Given the description of an element on the screen output the (x, y) to click on. 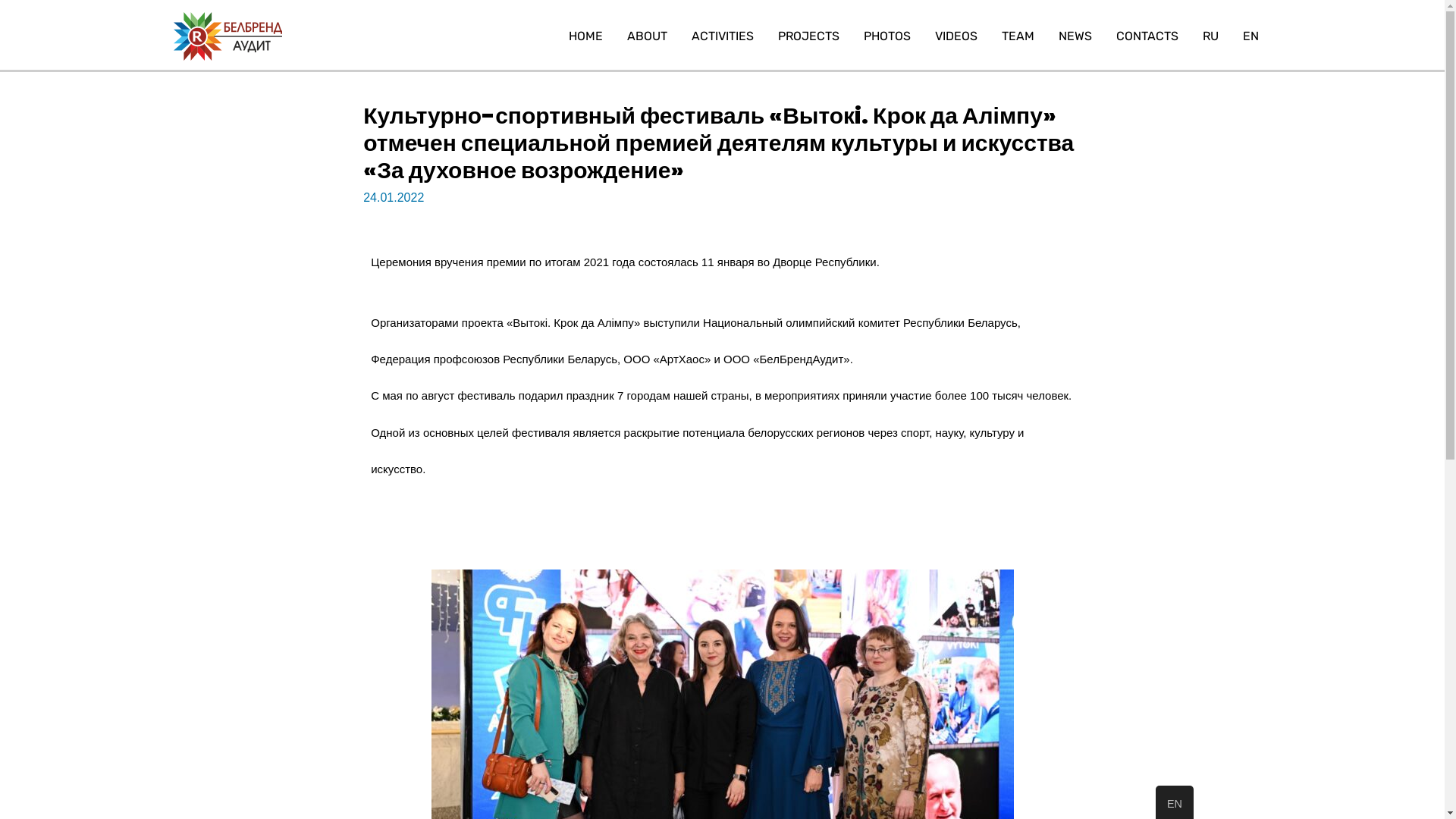
PROJECTS Element type: text (808, 36)
TEAM Element type: text (1017, 36)
VIDEOS Element type: text (955, 36)
EN Element type: text (1250, 36)
HOME Element type: text (585, 36)
RU Element type: text (1210, 36)
ABOUT Element type: text (647, 36)
NEWS Element type: text (1075, 36)
PHOTOS Element type: text (886, 36)
ACTIVITIES Element type: text (722, 36)
CONTACTS Element type: text (1147, 36)
